Given the description of an element on the screen output the (x, y) to click on. 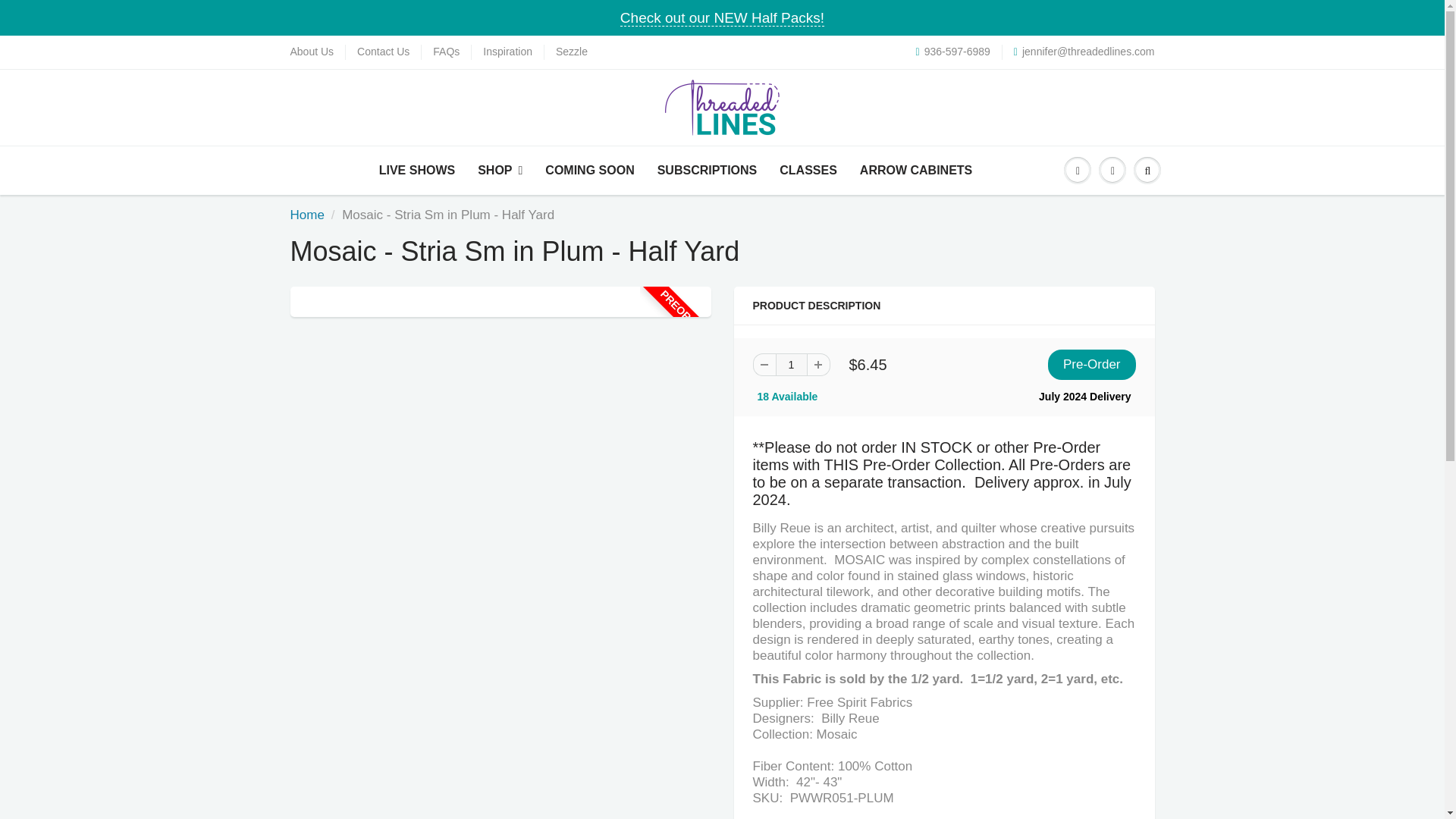
936-597-6989 (952, 52)
Inspiration (507, 52)
Check out our NEW Half Packs! (722, 17)
FAQs (446, 52)
Contact Us (382, 52)
1 (790, 363)
About Us (311, 52)
Sezzle (572, 52)
LIVE SHOWS (416, 170)
Pre-Order (1091, 364)
Home (306, 214)
SHOP (499, 170)
